Given the description of an element on the screen output the (x, y) to click on. 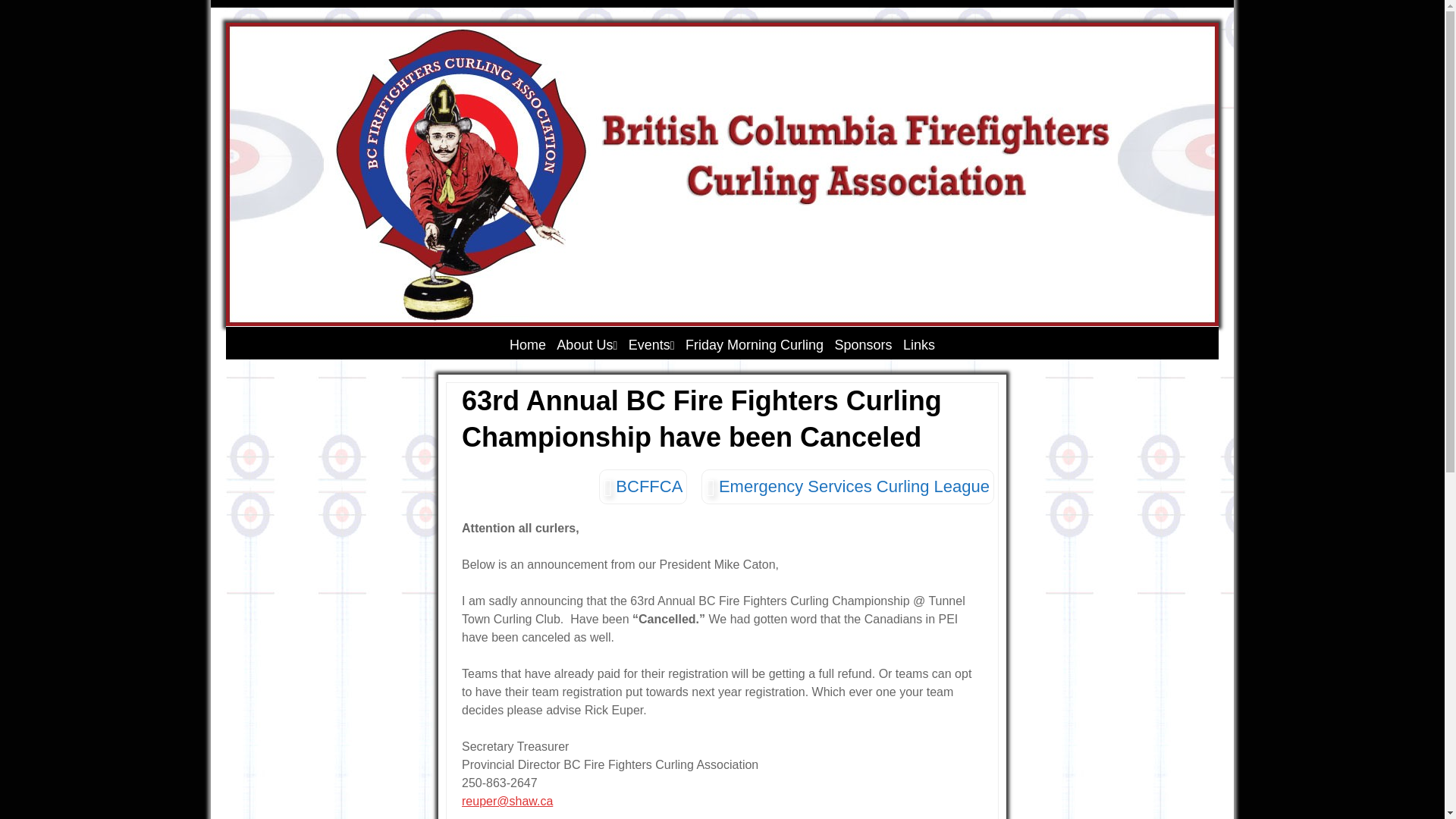
Events Element type: text (651, 344)
Friday Morning Curling Element type: text (754, 344)
BCFFCA Element type: text (643, 486)
reuper@shaw.ca Element type: text (506, 800)
Sponsors Element type: text (863, 344)
64th Annual BCFFC Championship Element type: text (701, 377)
Home Element type: text (527, 344)
Executive Board Element type: text (629, 370)
Links Element type: text (918, 344)
About Us Element type: text (586, 344)
Emergency Services Curling League Element type: text (847, 486)
